Given the description of an element on the screen output the (x, y) to click on. 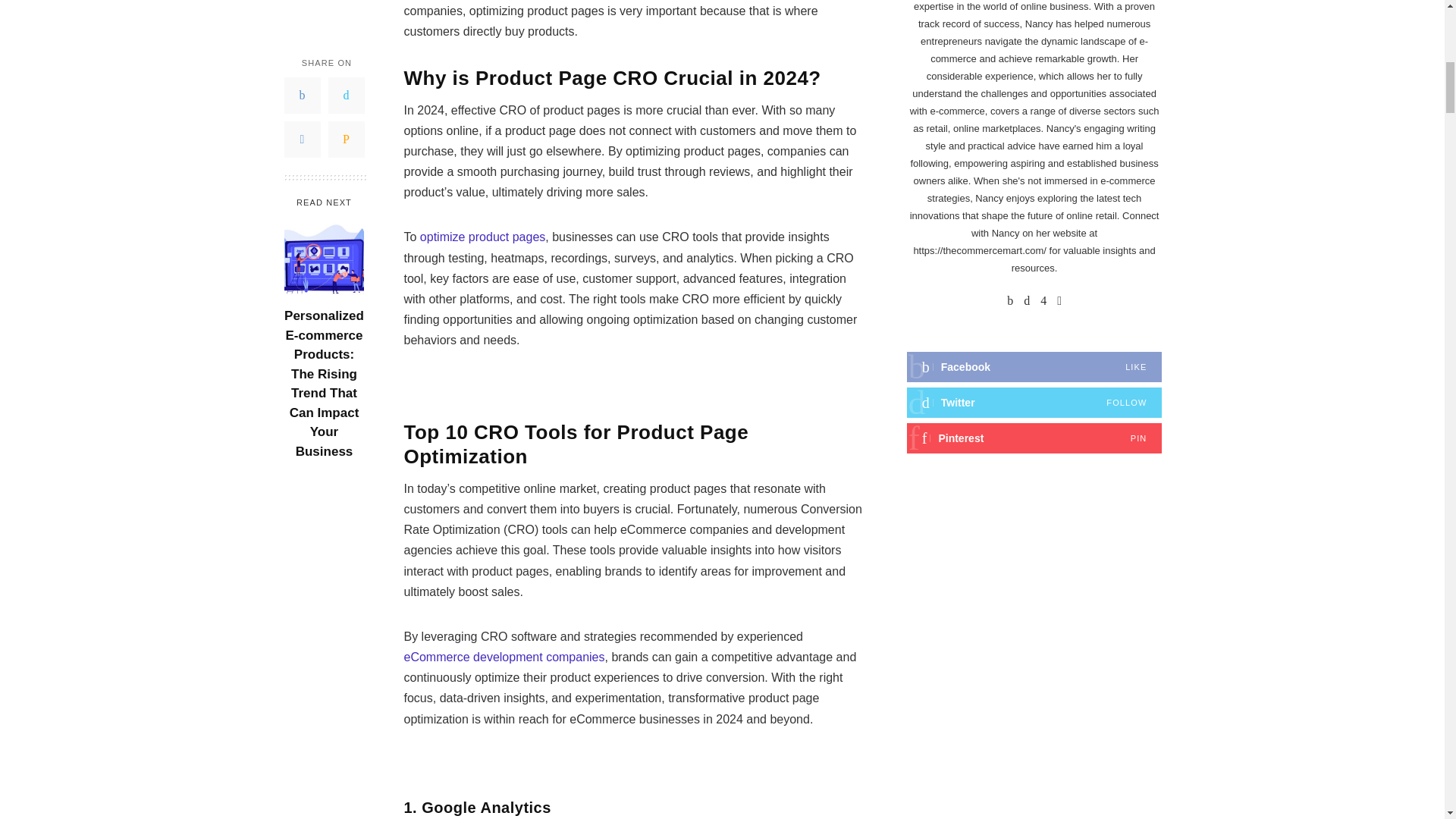
Telegram (301, 13)
Email (345, 13)
